Given the description of an element on the screen output the (x, y) to click on. 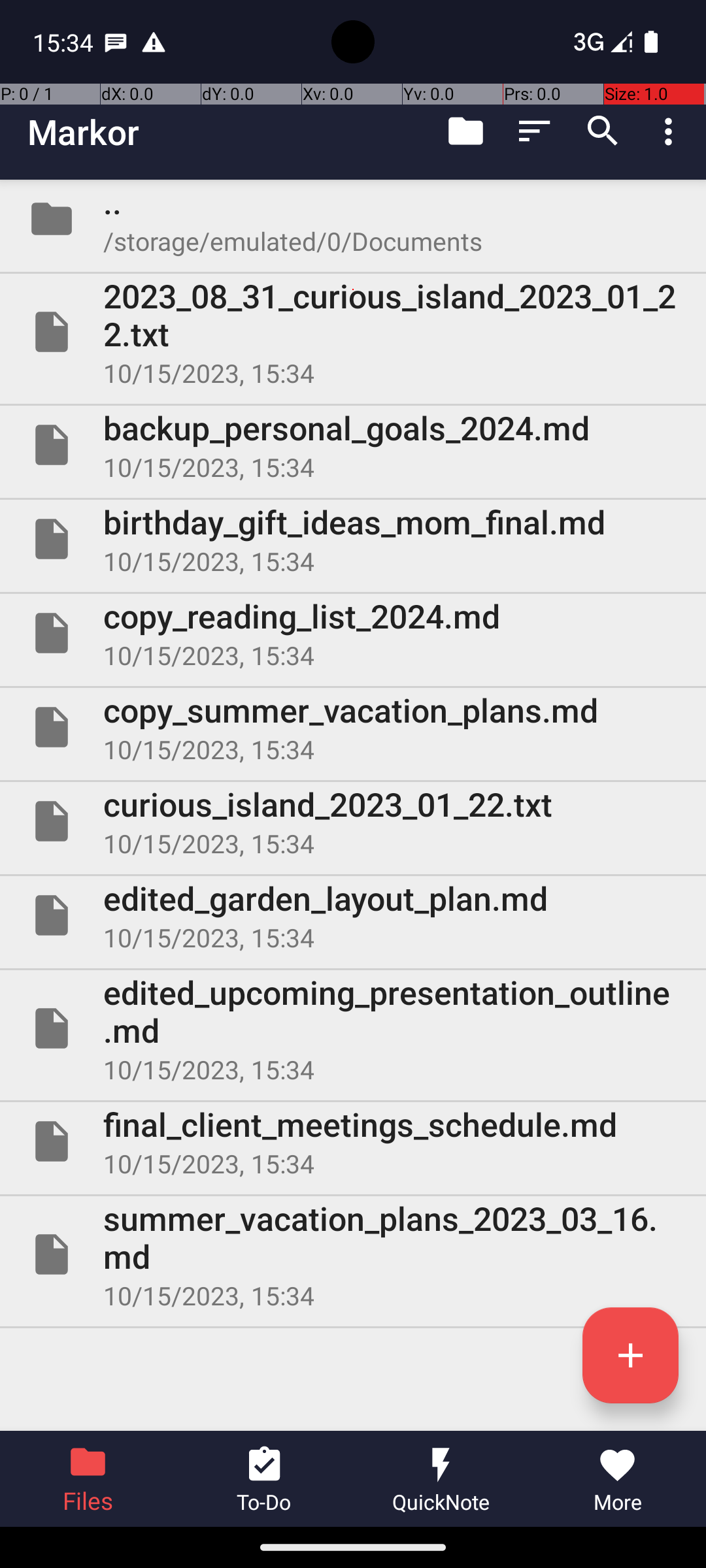
Create a new file or folder Element type: android.widget.ImageButton (630, 1355)
Go to Element type: android.widget.TextView (465, 131)
Sort by Element type: android.widget.TextView (534, 131)
To-Do Element type: android.widget.FrameLayout (264, 1478)
QuickNote Element type: android.widget.FrameLayout (441, 1478)
More Element type: android.widget.FrameLayout (617, 1478)
Folder ..  Element type: android.widget.LinearLayout (353, 218)
File 2023_08_31_curious_island_2023_01_22.txt  Element type: android.widget.LinearLayout (353, 331)
File backup_personal_goals_2024.md  Element type: android.widget.LinearLayout (353, 444)
File birthday_gift_ideas_mom_final.md  Element type: android.widget.LinearLayout (353, 538)
File copy_reading_list_2024.md  Element type: android.widget.LinearLayout (353, 632)
File copy_summer_vacation_plans.md  Element type: android.widget.LinearLayout (353, 726)
File curious_island_2023_01_22.txt  Element type: android.widget.LinearLayout (353, 821)
File edited_garden_layout_plan.md  Element type: android.widget.LinearLayout (353, 915)
File edited_upcoming_presentation_outline.md  Element type: android.widget.LinearLayout (353, 1028)
File final_client_meetings_schedule.md  Element type: android.widget.LinearLayout (353, 1141)
File summer_vacation_plans_2023_03_16.md  Element type: android.widget.LinearLayout (353, 1254)
